Given the description of an element on the screen output the (x, y) to click on. 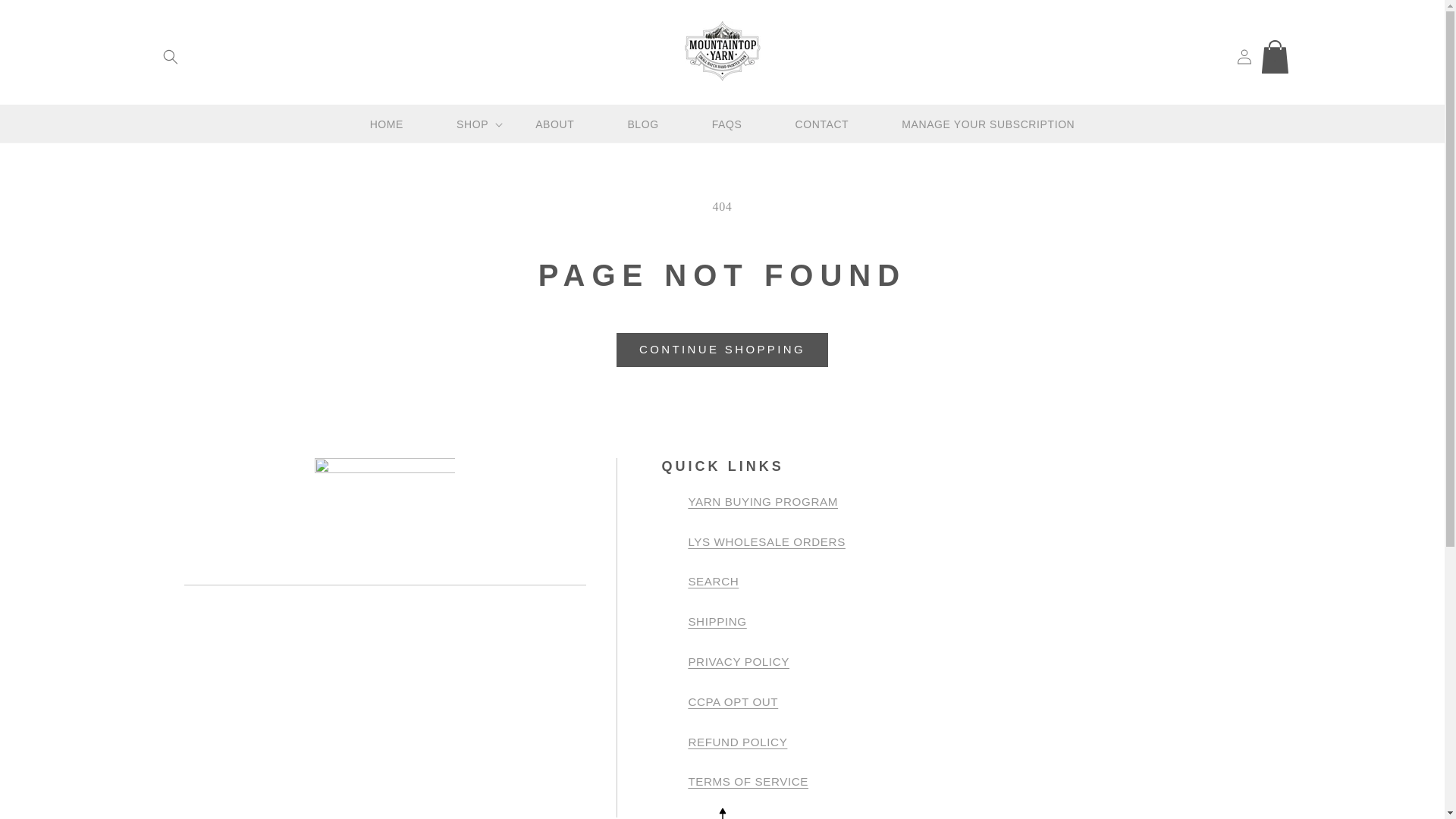
SKIP TO CONTENT (45, 16)
HOME (386, 124)
0 (1277, 55)
